Given the description of an element on the screen output the (x, y) to click on. 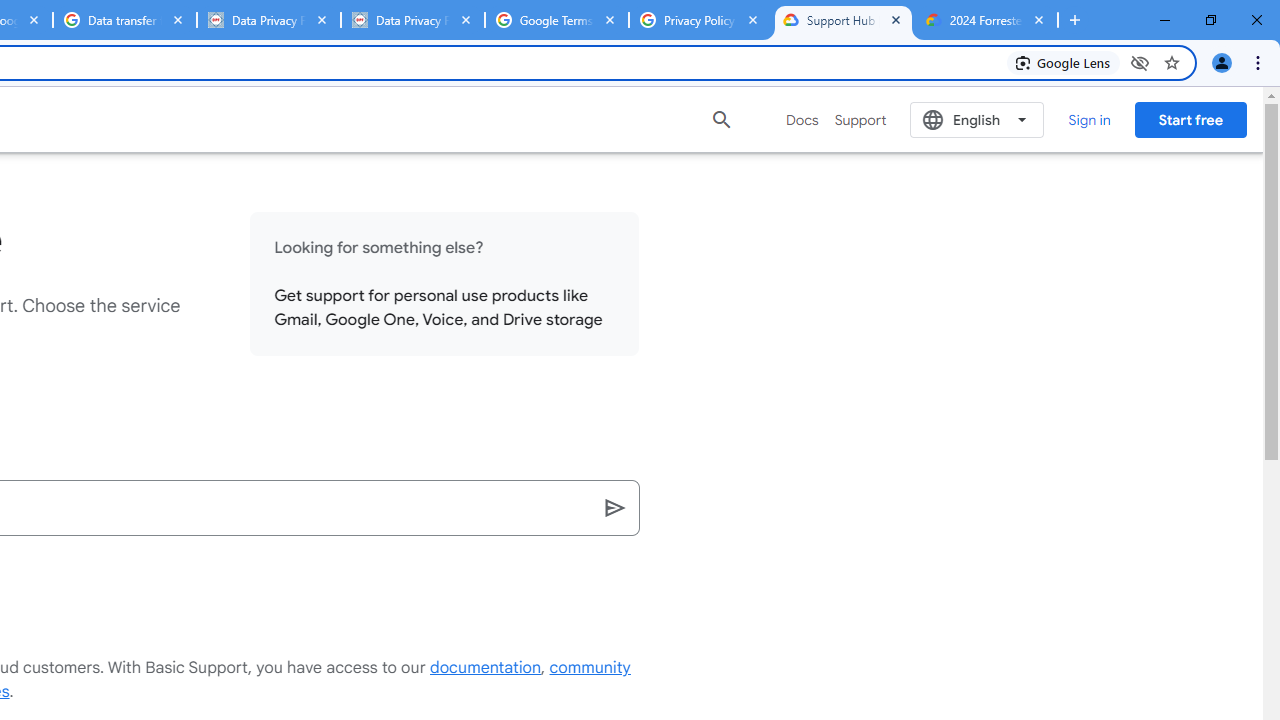
documentation (485, 668)
Data Privacy Framework (412, 20)
Search with Google Lens (1063, 62)
Docs (802, 119)
